Given the description of an element on the screen output the (x, y) to click on. 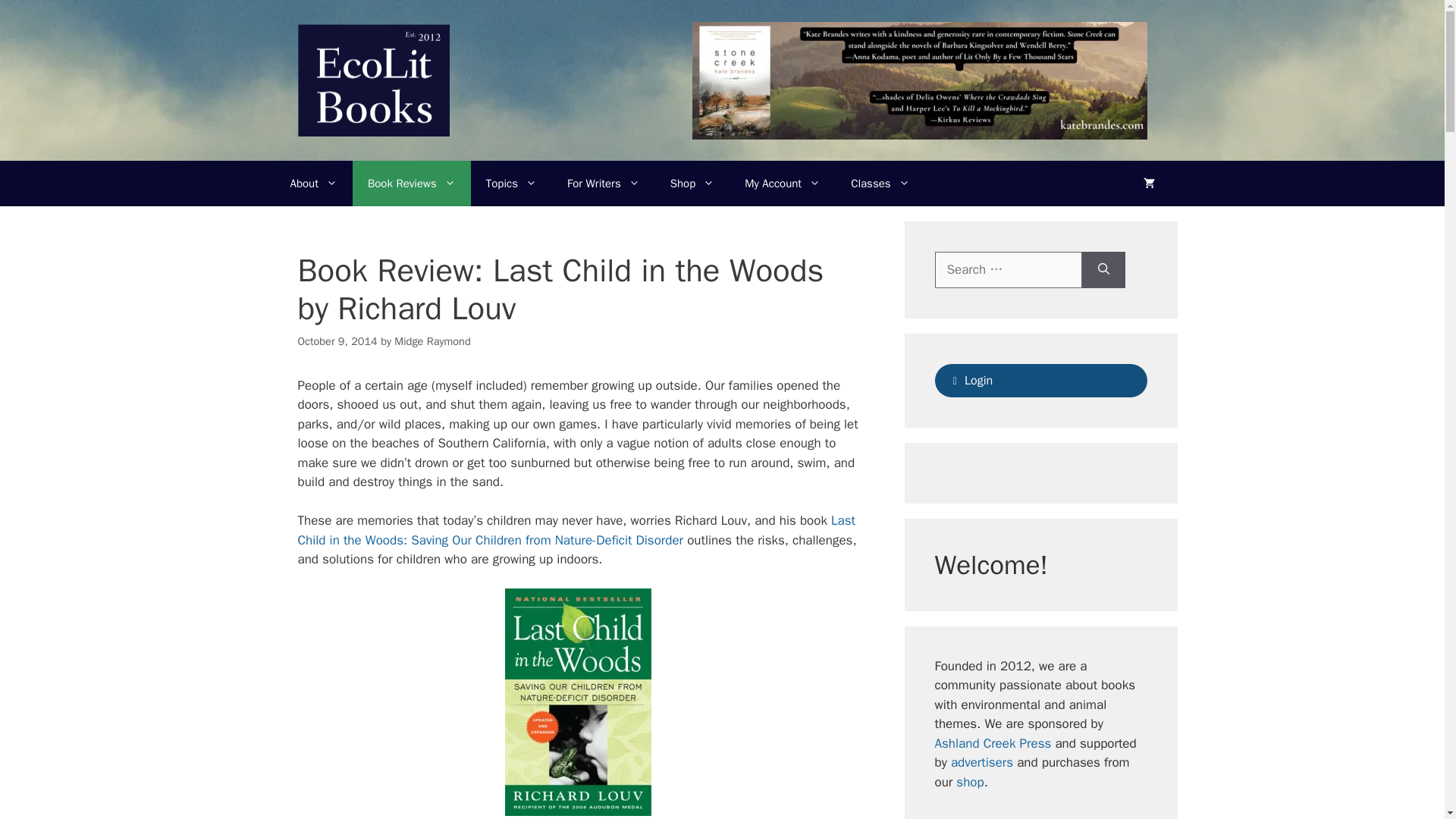
View all posts by Midge Raymond (432, 341)
About (313, 183)
Topics (510, 183)
View your shopping cart (1149, 183)
Search for: (1007, 269)
Book Reviews (411, 183)
